Given the description of an element on the screen output the (x, y) to click on. 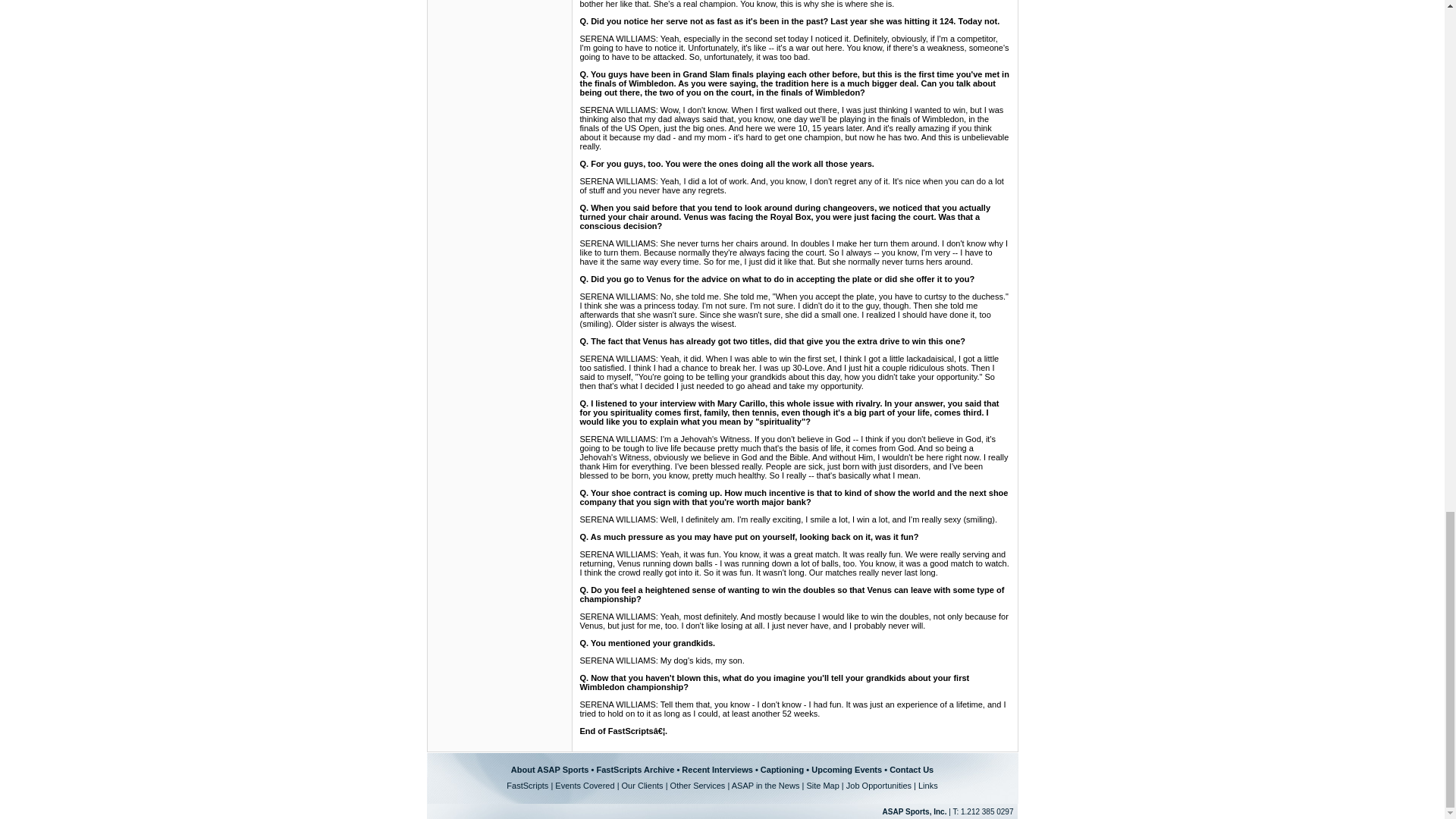
Upcoming Events (846, 768)
About ASAP Sports (550, 768)
Captioning (781, 768)
Recent Interviews (716, 768)
FastScripts Archive (634, 768)
